Given the description of an element on the screen output the (x, y) to click on. 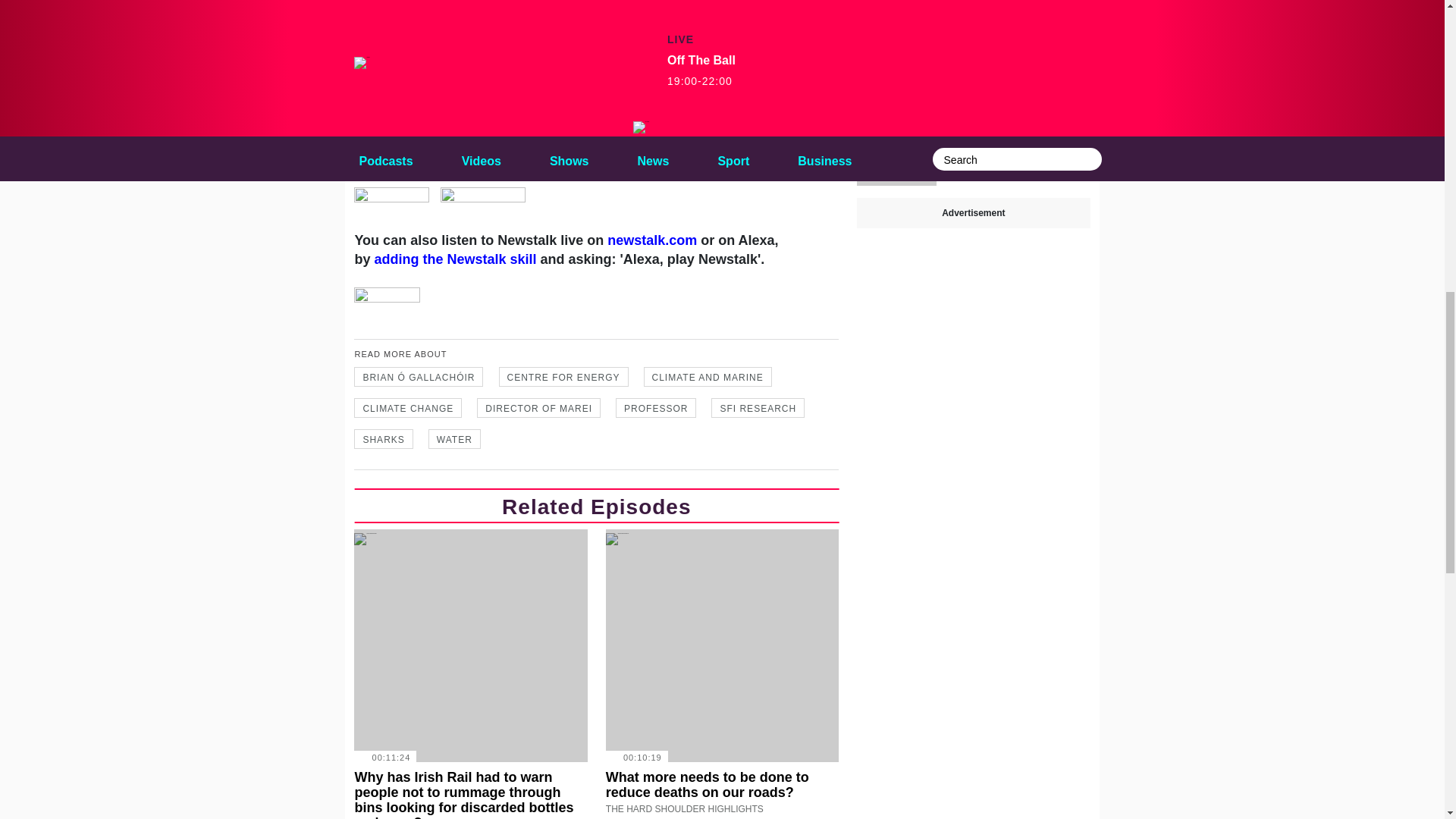
Spotify (469, 79)
Google Podcasts (590, 69)
Apple Podcasts (721, 60)
